Given the description of an element on the screen output the (x, y) to click on. 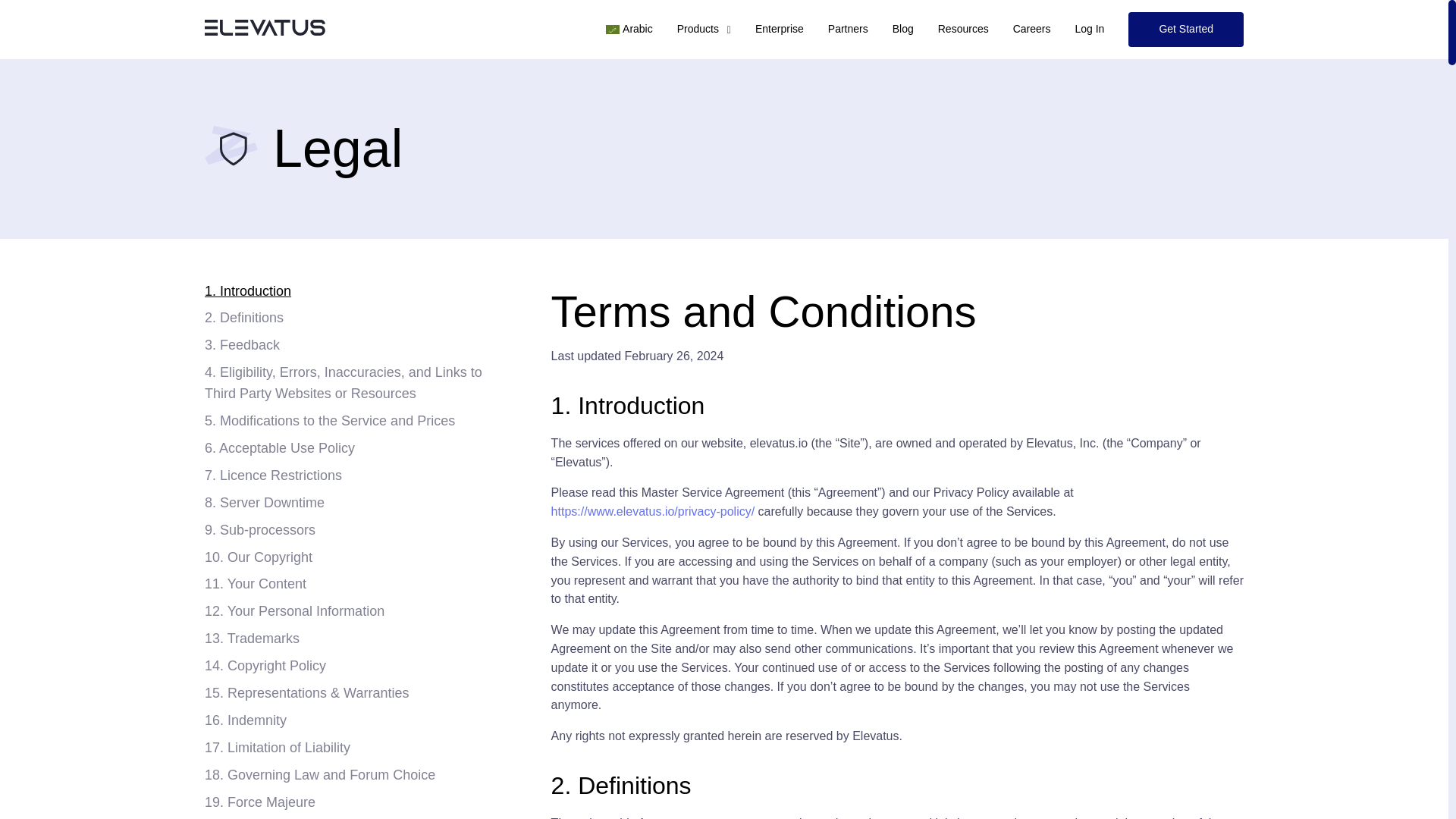
9. Sub-processors (360, 530)
5. Modifications to the Service and Prices (360, 421)
2. Definitions (360, 318)
11. Your Content (360, 584)
Careers (1031, 29)
8. Server Downtime (360, 503)
Partners (847, 29)
Log In (1089, 29)
18. Governing Law and Forum Choice (360, 775)
12. Your Personal Information (360, 611)
17. Limitation of Liability (360, 748)
13. Trademarks (360, 639)
16. Indemnity (360, 721)
Get Started (1186, 29)
Arabic (629, 29)
